Given the description of an element on the screen output the (x, y) to click on. 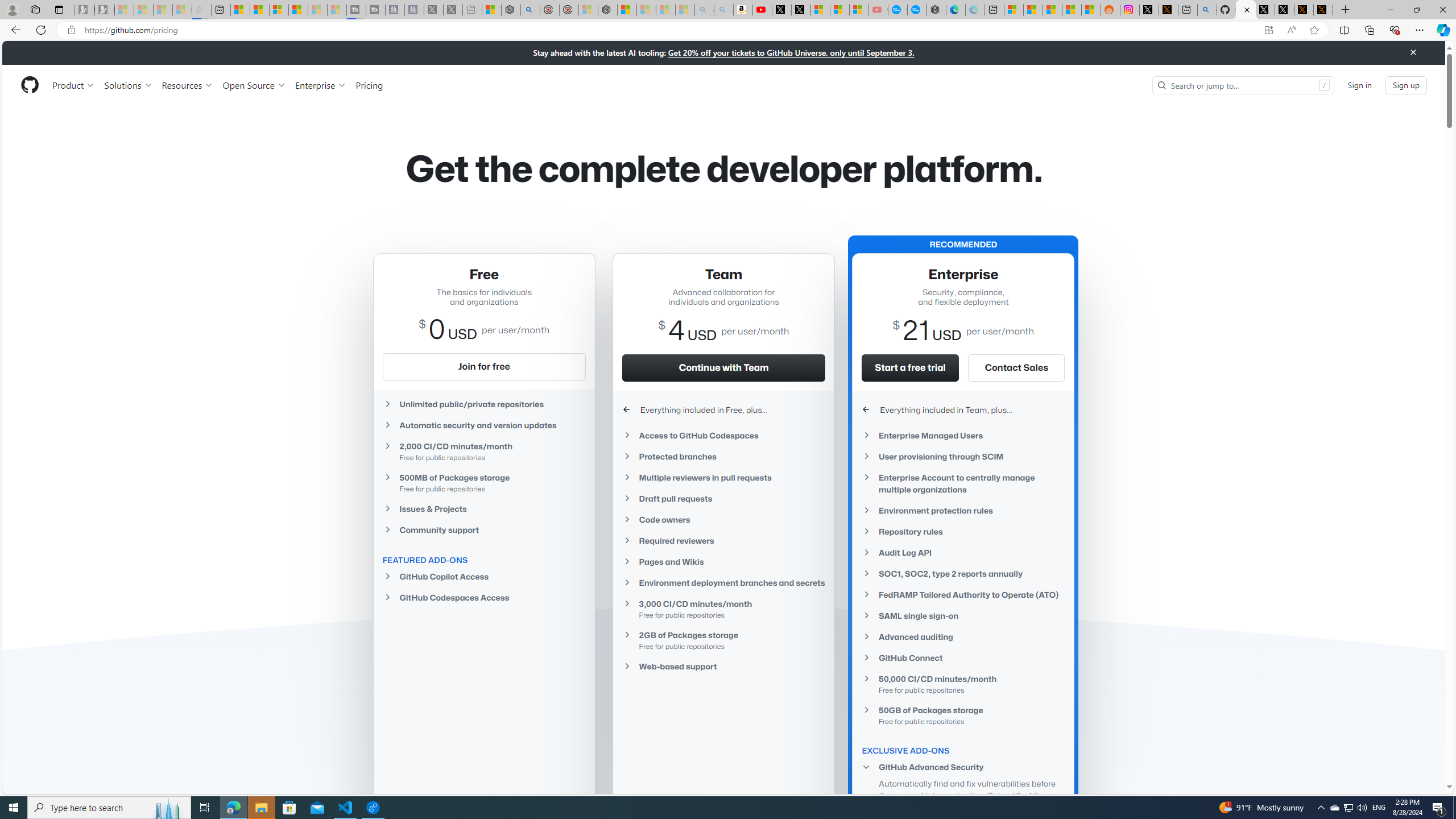
github - Search (1206, 9)
Microsoft Start - Sleeping (316, 9)
GitHub Codespaces Access (483, 597)
Join for free (483, 366)
Continue with Team (723, 367)
poe - Search (529, 9)
Multiple reviewers in pull requests (723, 477)
2GB of Packages storageFree for public repositories (723, 640)
Issues & Projects (483, 508)
Solutions (128, 84)
Access to GitHub Codespaces (723, 435)
SAML single sign-on (963, 615)
